Given the description of an element on the screen output the (x, y) to click on. 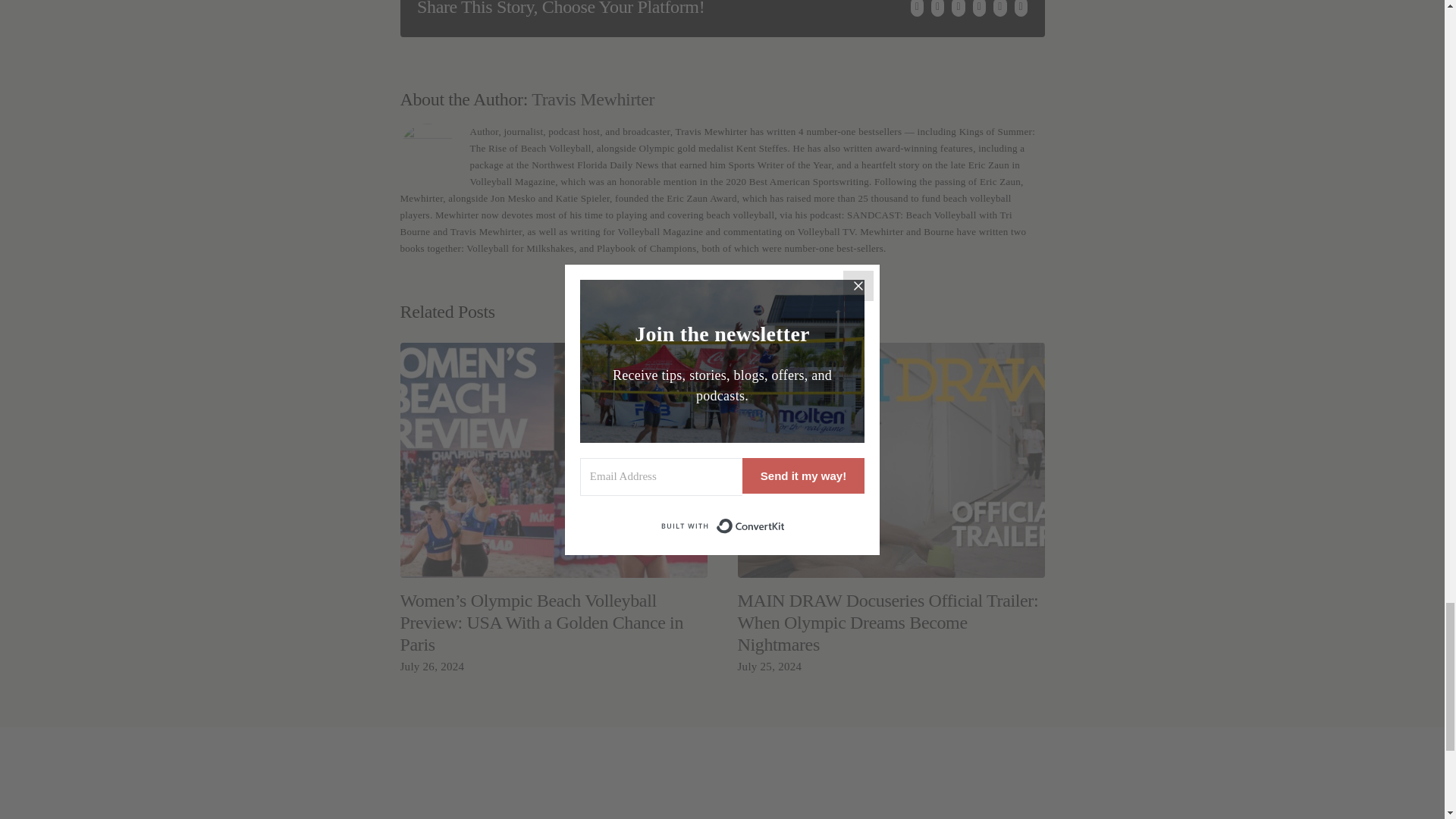
Travis Mewhirter (592, 98)
Telegram (999, 8)
Twitter (937, 8)
LinkedIn (957, 8)
Email (1020, 8)
Posts by Travis Mewhirter (592, 98)
WhatsApp (978, 8)
Facebook (917, 8)
